Given the description of an element on the screen output the (x, y) to click on. 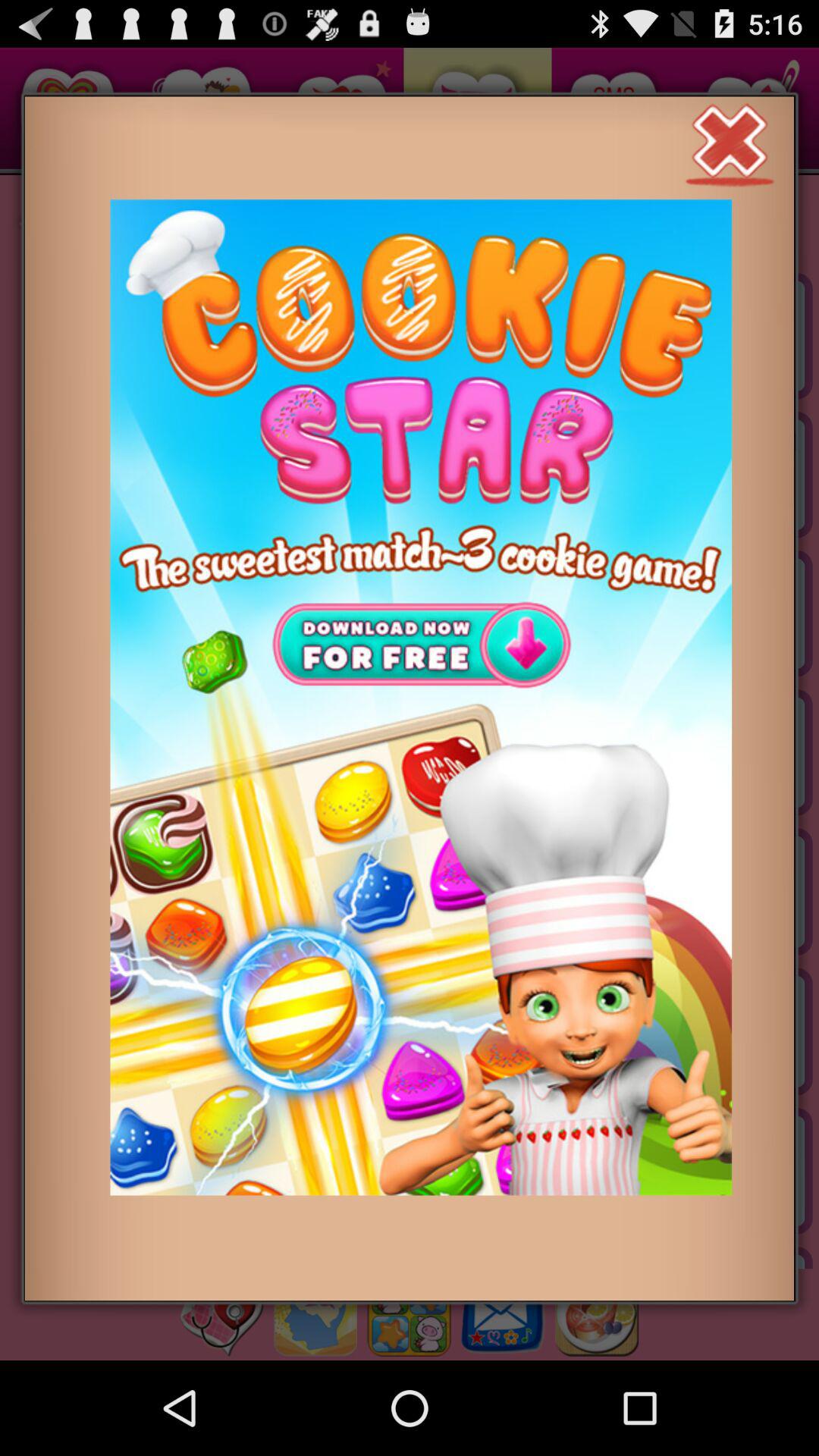
downloadgame (420, 697)
